Given the description of an element on the screen output the (x, y) to click on. 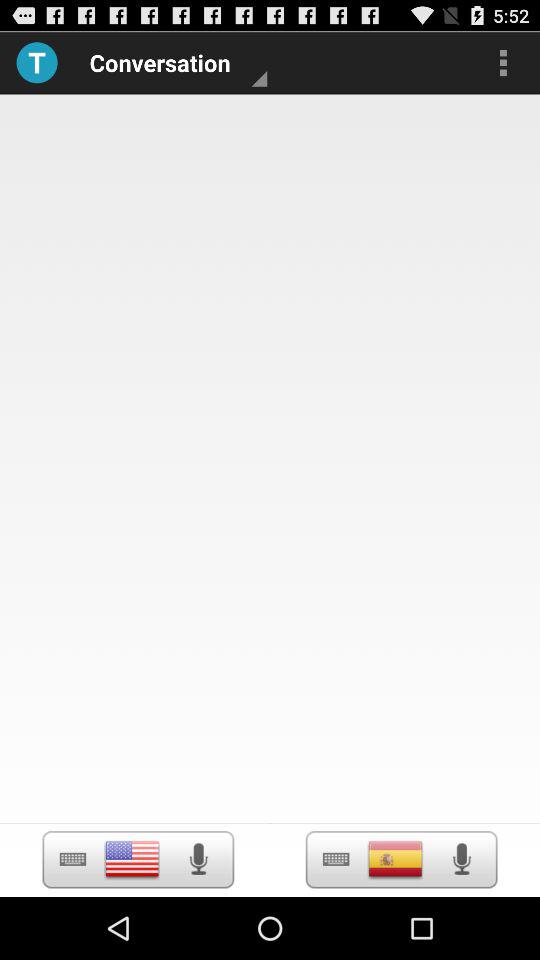
play this country (395, 859)
